Given the description of an element on the screen output the (x, y) to click on. 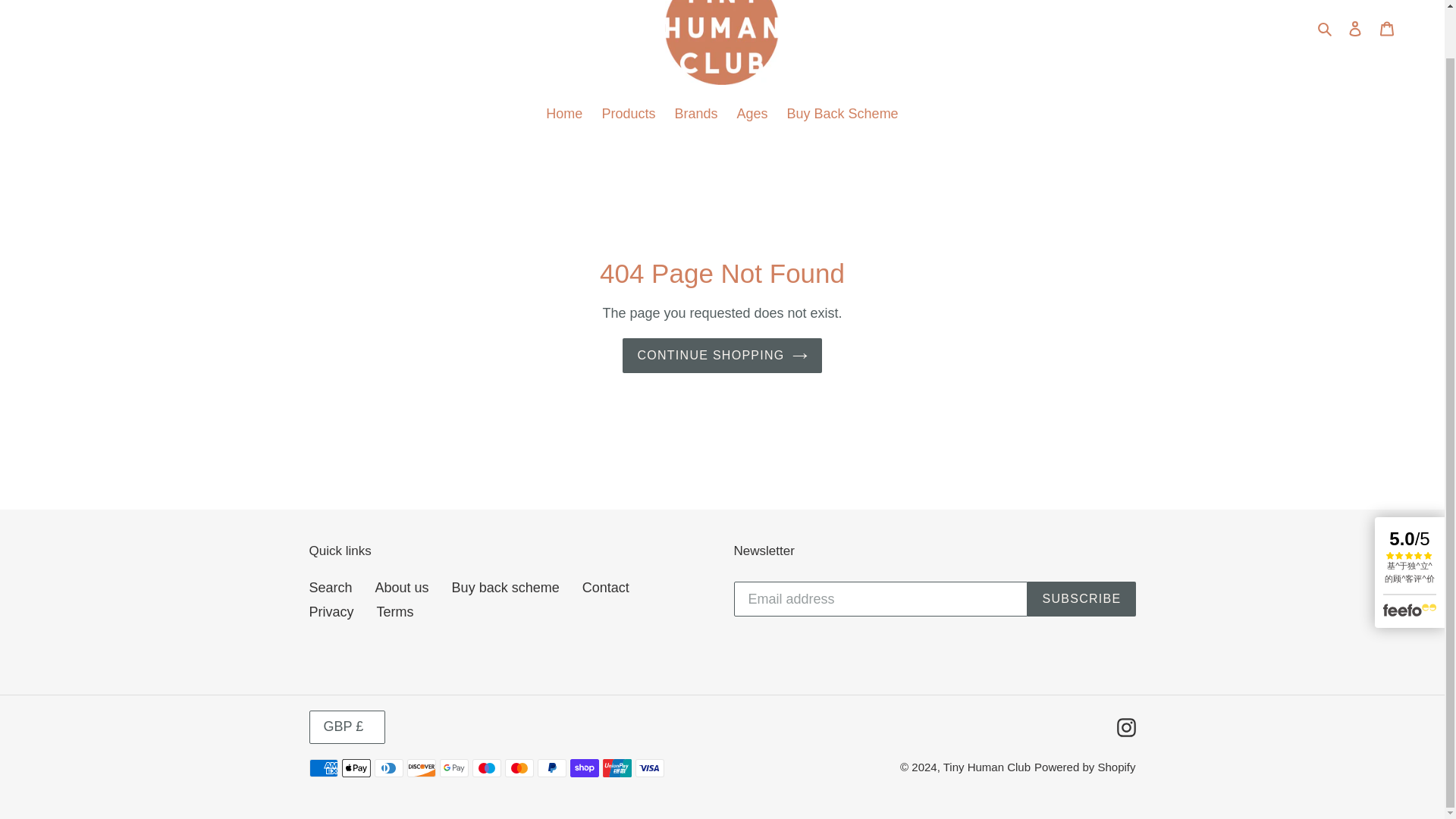
Terms (395, 611)
About us (402, 587)
SUBSCRIBE (1081, 598)
Cart (1387, 27)
Search (1326, 27)
Privacy (330, 611)
Contact (605, 587)
Ages (752, 115)
Search (330, 587)
Home (563, 115)
CONTINUE SHOPPING (722, 355)
Products (628, 115)
Log in (1355, 27)
Buy Back Scheme (841, 115)
Brands (695, 115)
